Given the description of an element on the screen output the (x, y) to click on. 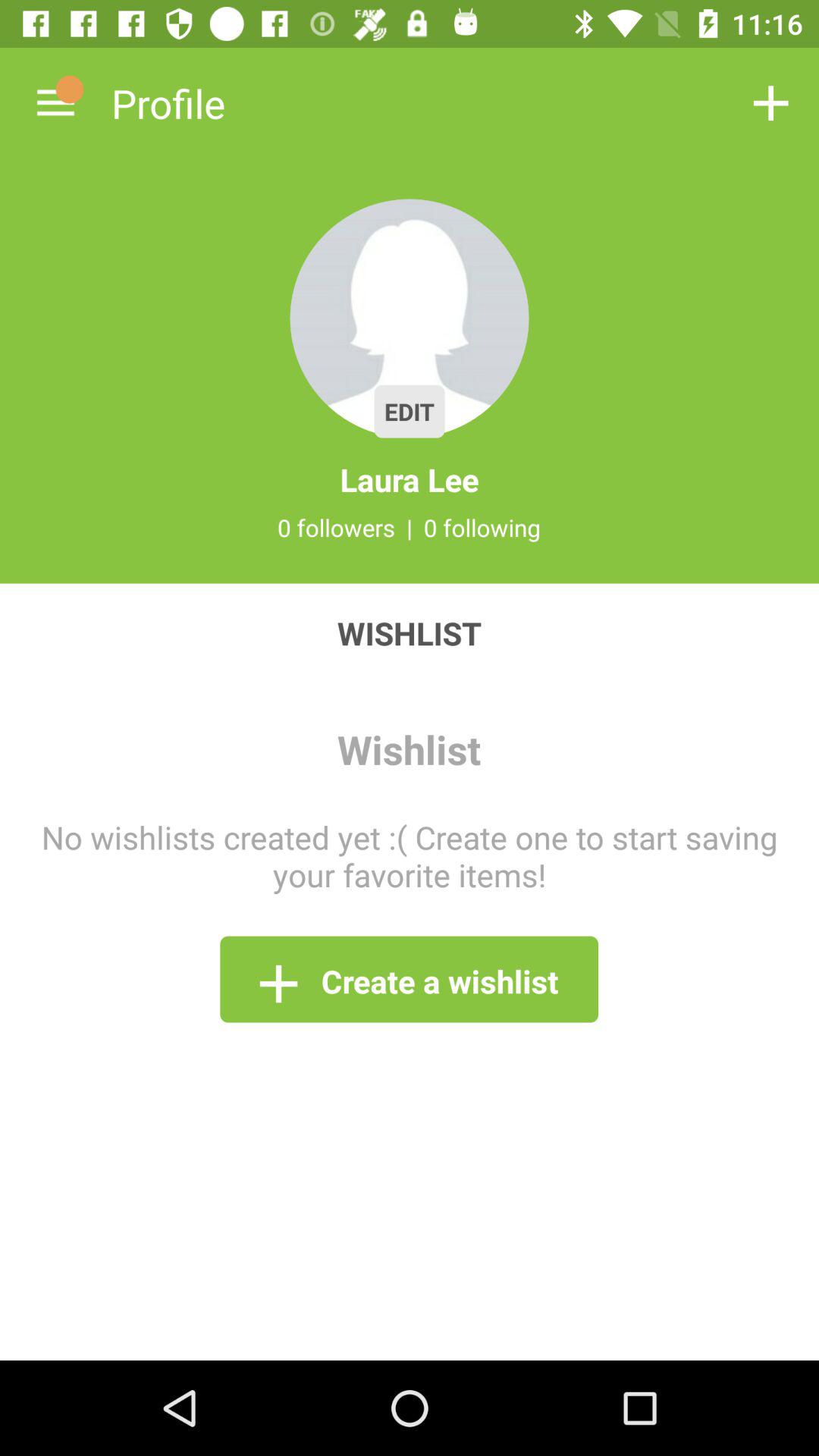
turn on the icon above wishlist item (55, 103)
